Given the description of an element on the screen output the (x, y) to click on. 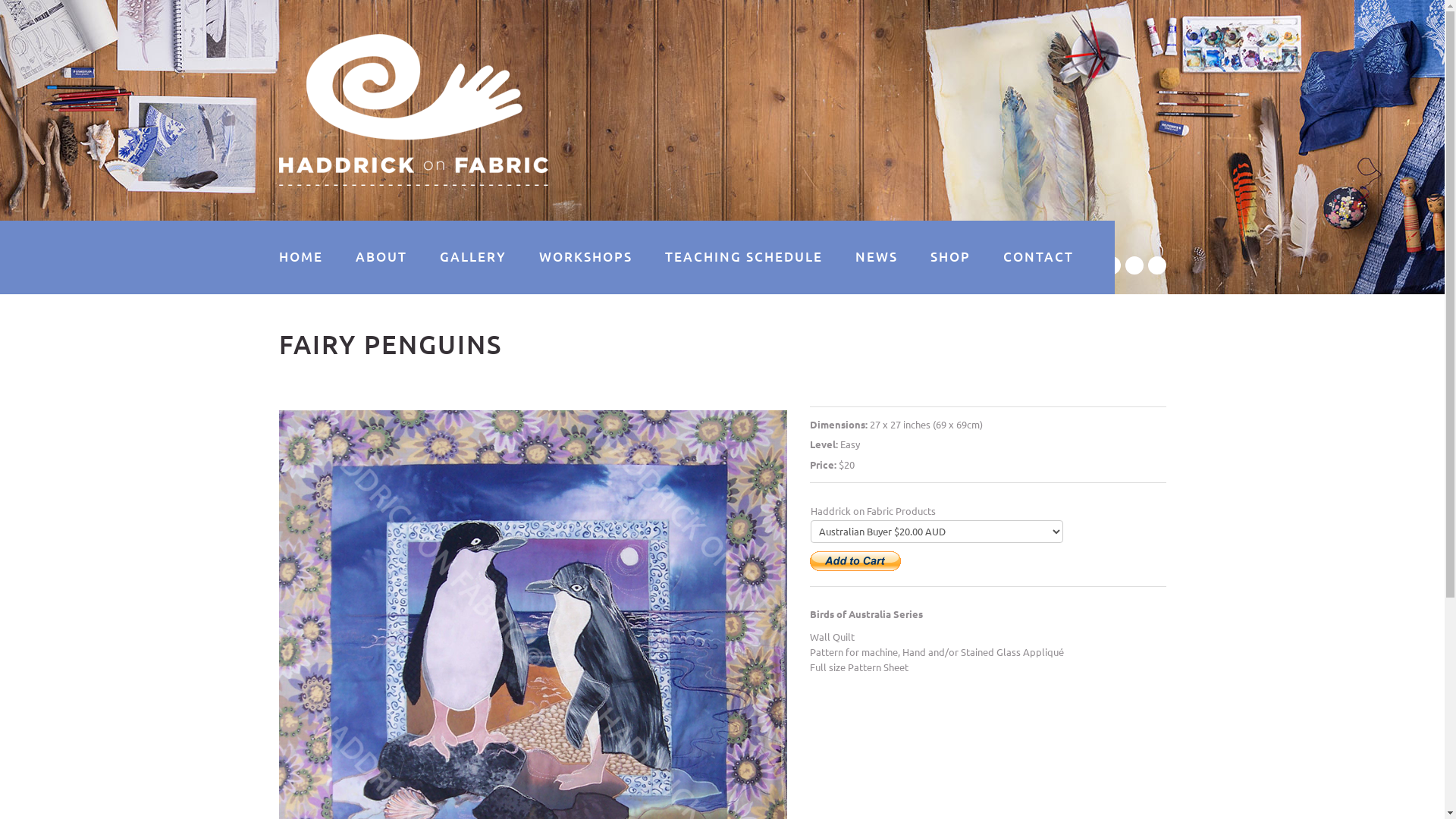
SHOP Element type: text (949, 256)
ABOUT Element type: text (380, 256)
NEWS Element type: text (876, 256)
TEACHING SCHEDULE Element type: text (743, 256)
CONTACT Element type: text (1037, 256)
GALLERY Element type: text (472, 256)
WORKSHOPS Element type: text (584, 256)
Haddrick on Fabric online studio Element type: hover (413, 109)
HOME Element type: text (301, 256)
